Given the description of an element on the screen output the (x, y) to click on. 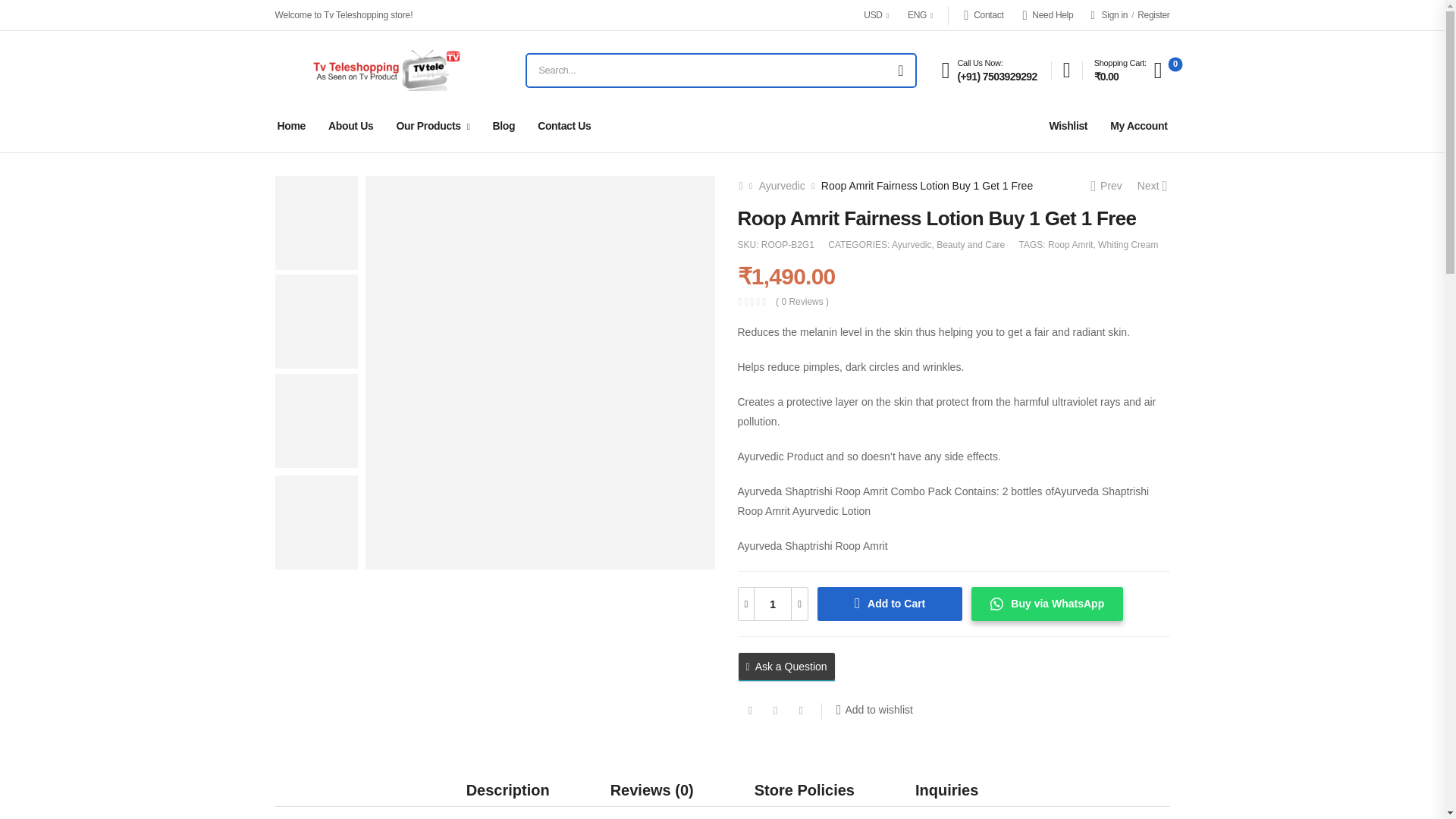
Our Products (432, 125)
Ayurvedic (911, 244)
Home (291, 125)
Contact (983, 14)
Qty (772, 603)
Roop Amrit (1070, 244)
Prev (1106, 185)
My Account (1138, 125)
About Us (350, 125)
1 (772, 603)
Wishlist (1067, 125)
Contact Us (564, 125)
Beauty and Care (970, 244)
Need Help (1047, 14)
USD (875, 15)
